Given the description of an element on the screen output the (x, y) to click on. 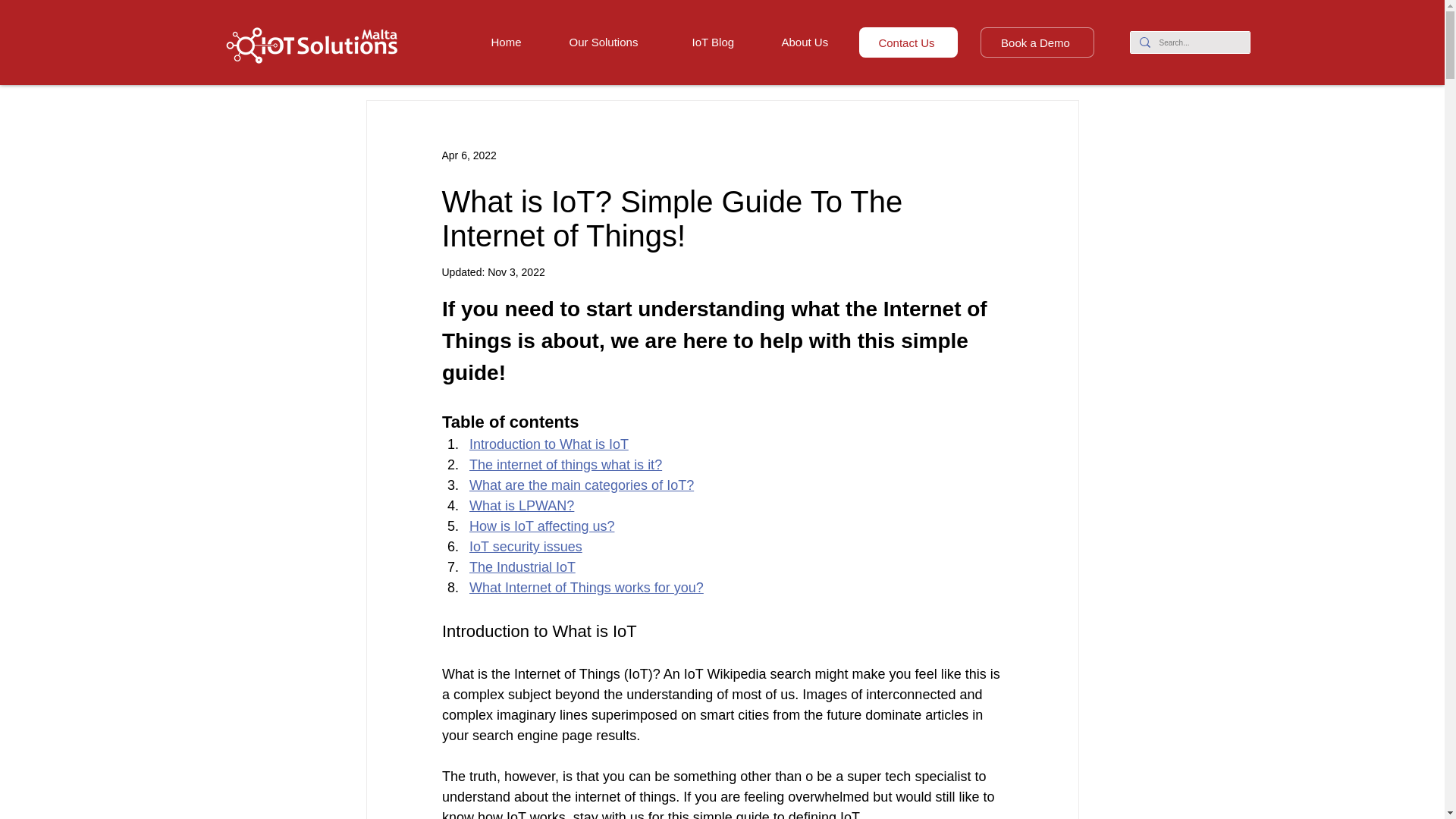
Introduction to What is IoT (547, 444)
Book a Demo (1036, 42)
How is IoT affecting us? (540, 525)
IoT security issues (524, 546)
The Industrial IoT (521, 566)
Home (518, 42)
What are the main categories of IoT? (580, 485)
Nov 3, 2022 (515, 272)
The internet of things what is it? (564, 464)
What is LPWAN? (520, 505)
Contact Us (907, 42)
IoT Blog (725, 42)
What Internet of Things works for you? (585, 587)
Apr 6, 2022 (468, 154)
